Given the description of an element on the screen output the (x, y) to click on. 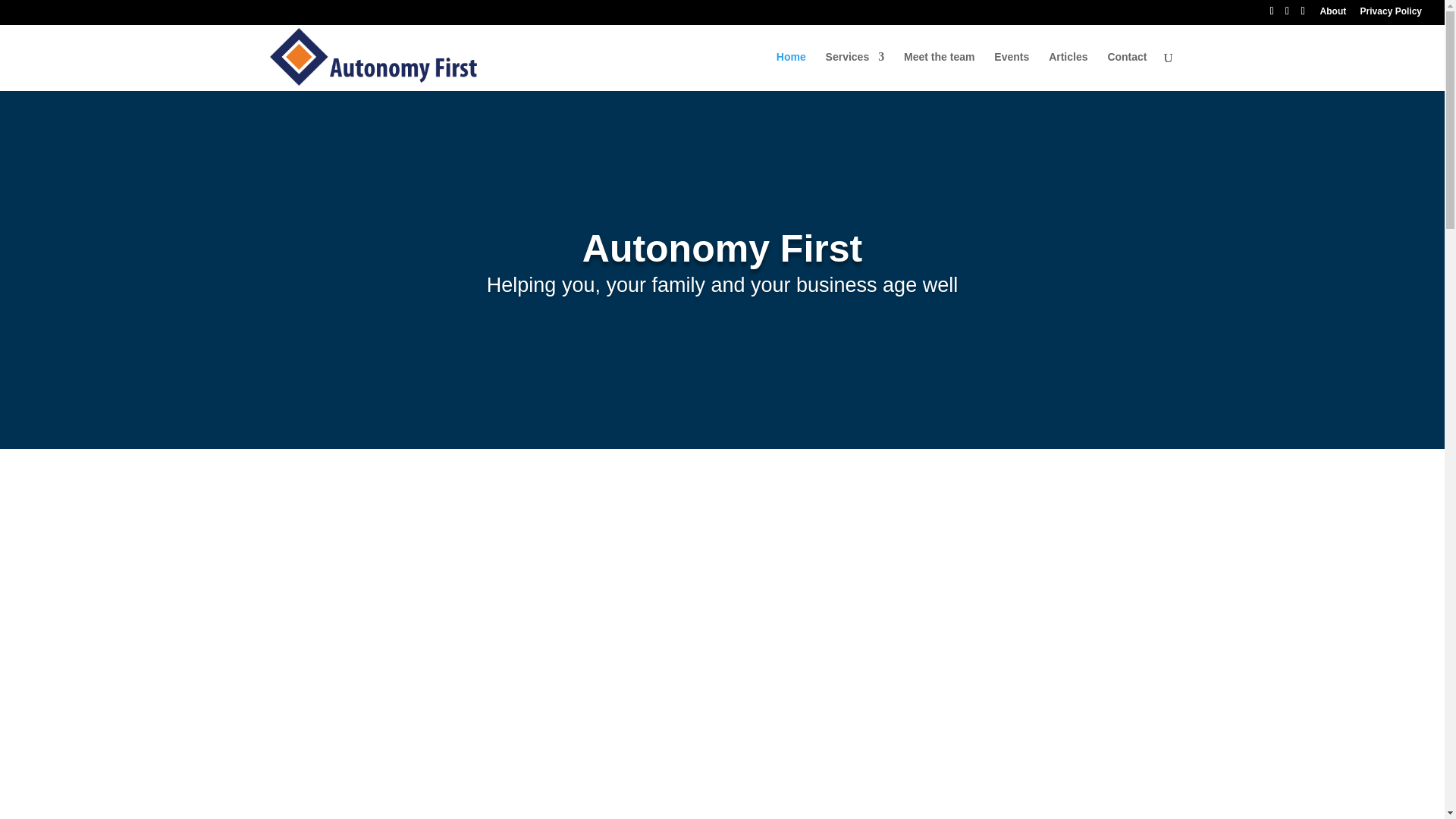
Meet the team (939, 70)
About (1333, 14)
Articles (1067, 70)
Contact (1126, 70)
Services (855, 70)
Privacy Policy (1390, 14)
